Given the description of an element on the screen output the (x, y) to click on. 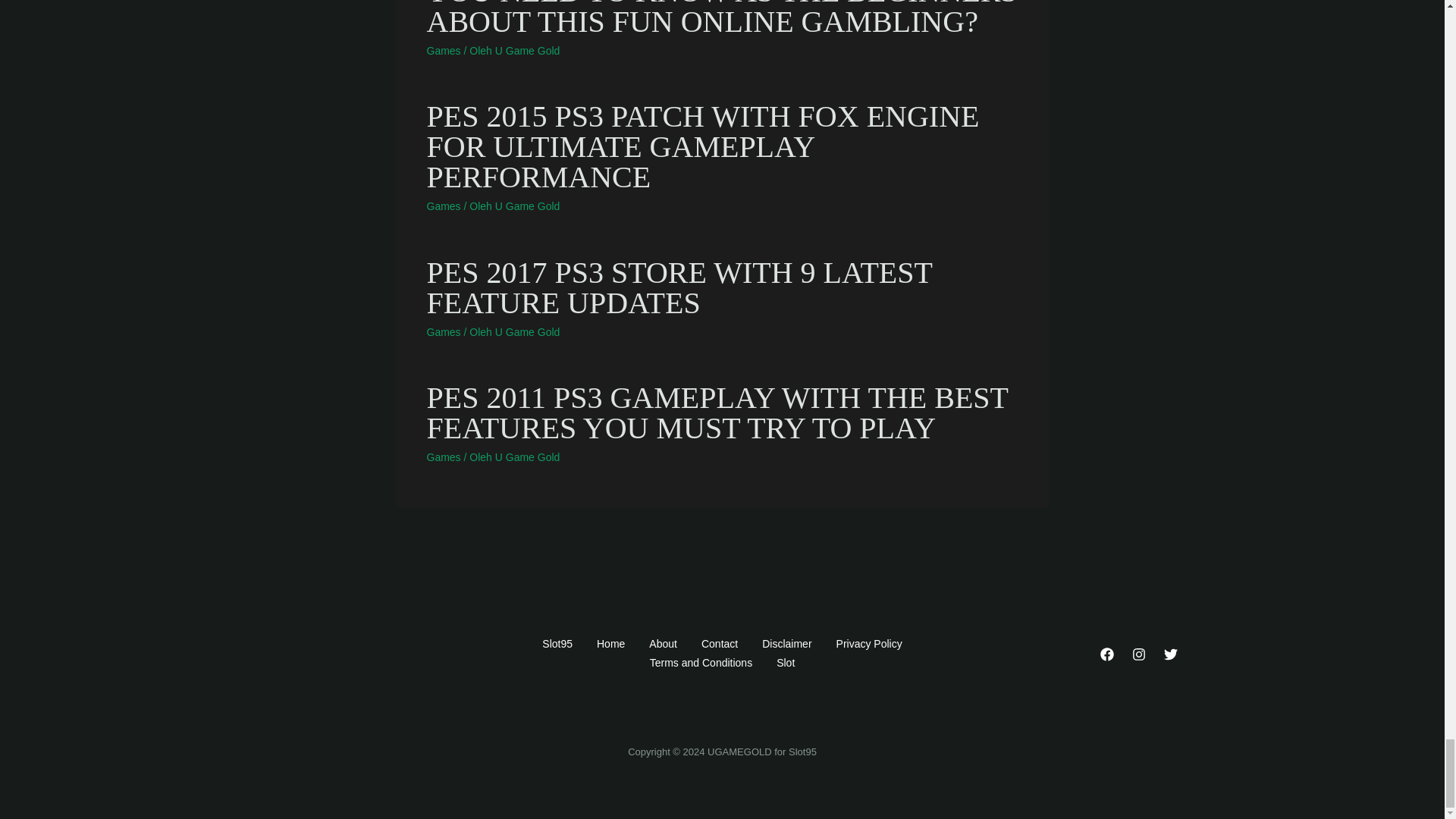
Lihat seluruh tulisan oleh U Game Gold (527, 205)
Lihat seluruh tulisan oleh U Game Gold (527, 457)
Lihat seluruh tulisan oleh U Game Gold (527, 331)
Lihat seluruh tulisan oleh U Game Gold (527, 50)
